Given the description of an element on the screen output the (x, y) to click on. 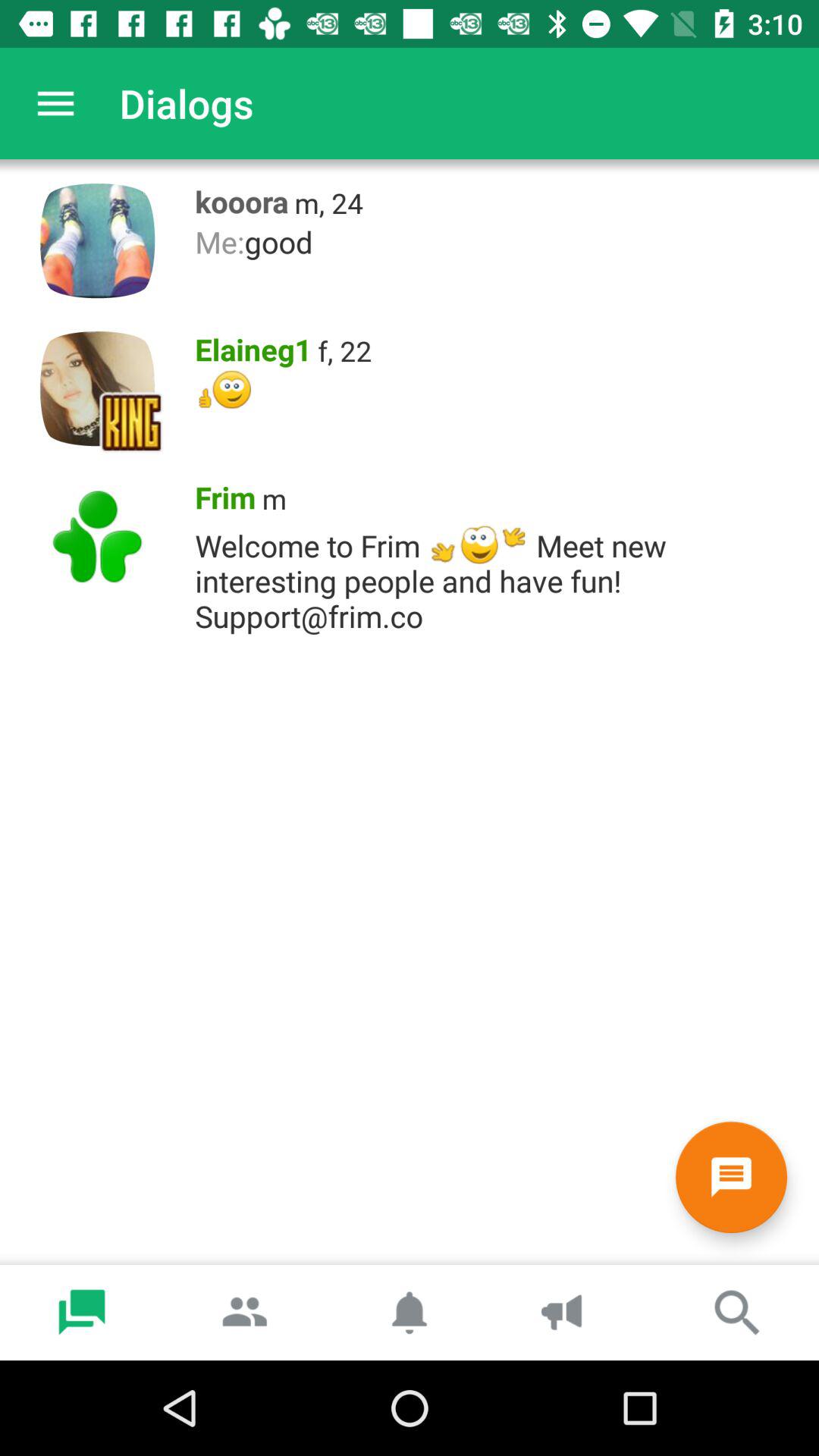
jump until kooora icon (236, 198)
